Given the description of an element on the screen output the (x, y) to click on. 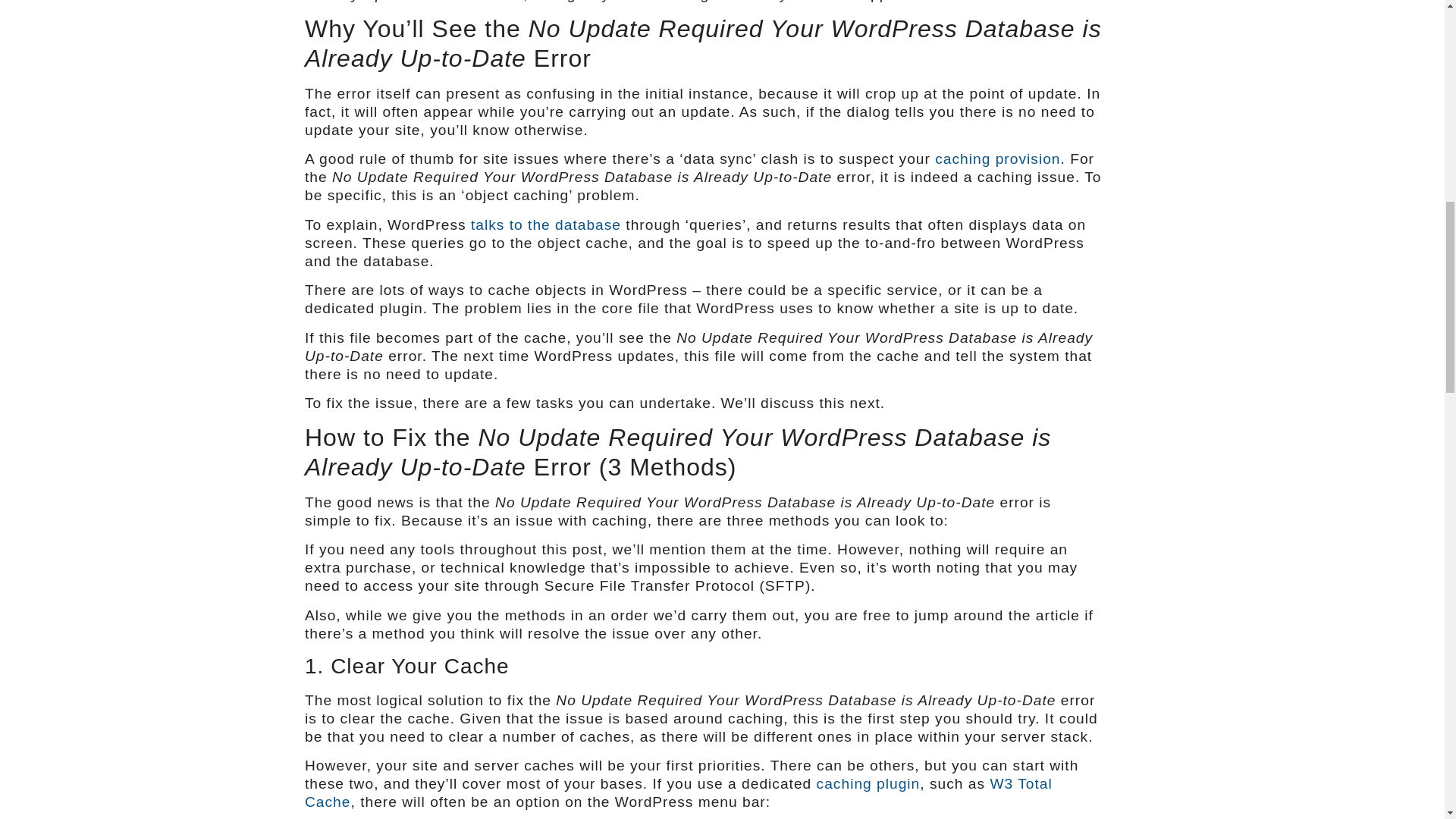
talks to the database (545, 224)
caching plugin (868, 783)
caching provision (996, 158)
W3 Total Cache (678, 792)
